Given the description of an element on the screen output the (x, y) to click on. 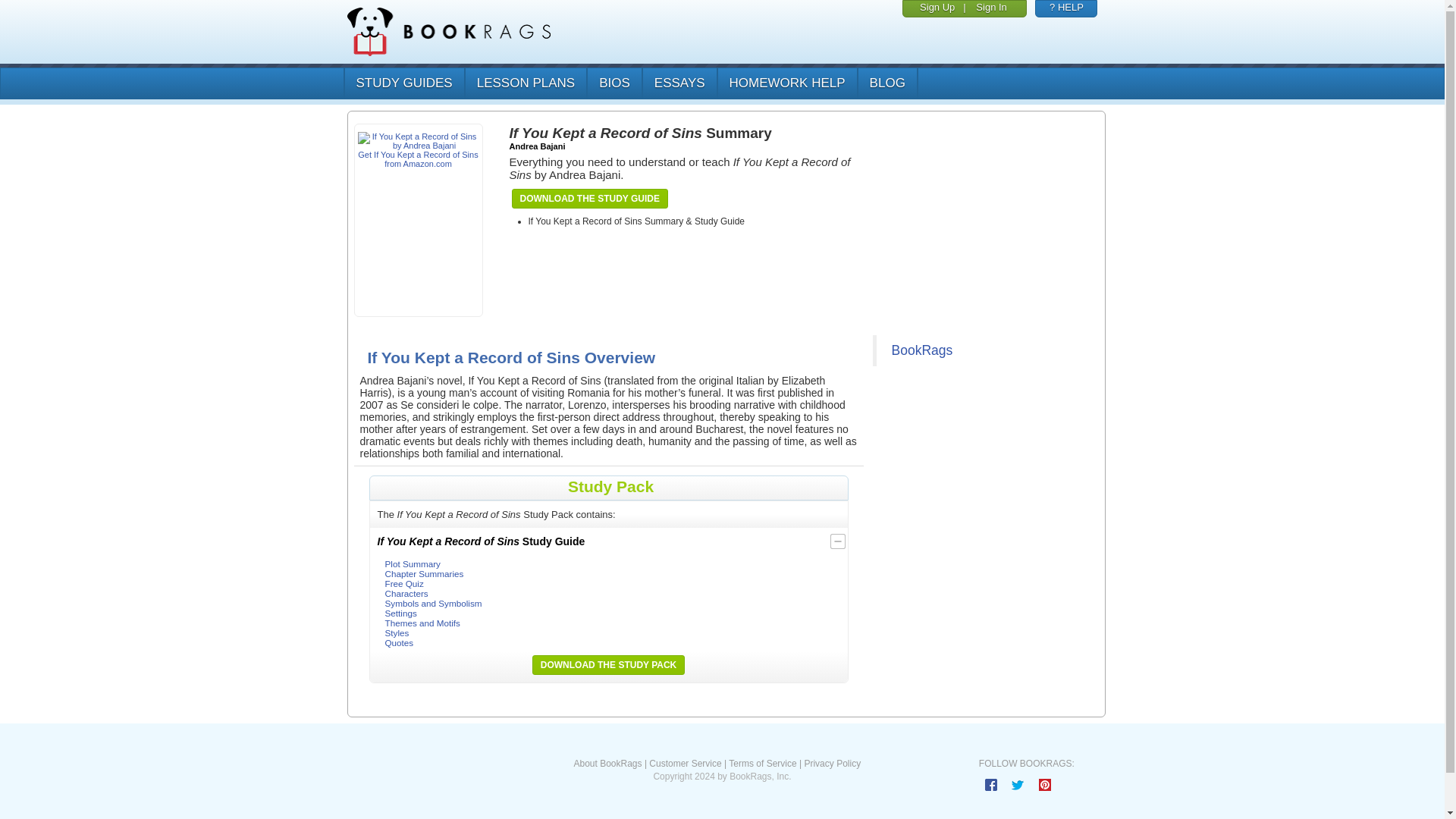
Characters (406, 593)
Sign Up (937, 7)
Download the Study Guide (589, 198)
Download the Study Pack (608, 665)
Quotes (399, 642)
Terms of Service (762, 763)
Themes and Motifs (422, 623)
Plot Summary (413, 563)
DOWNLOAD THE STUDY GUIDE (589, 198)
Customer Service (684, 763)
